Given the description of an element on the screen output the (x, y) to click on. 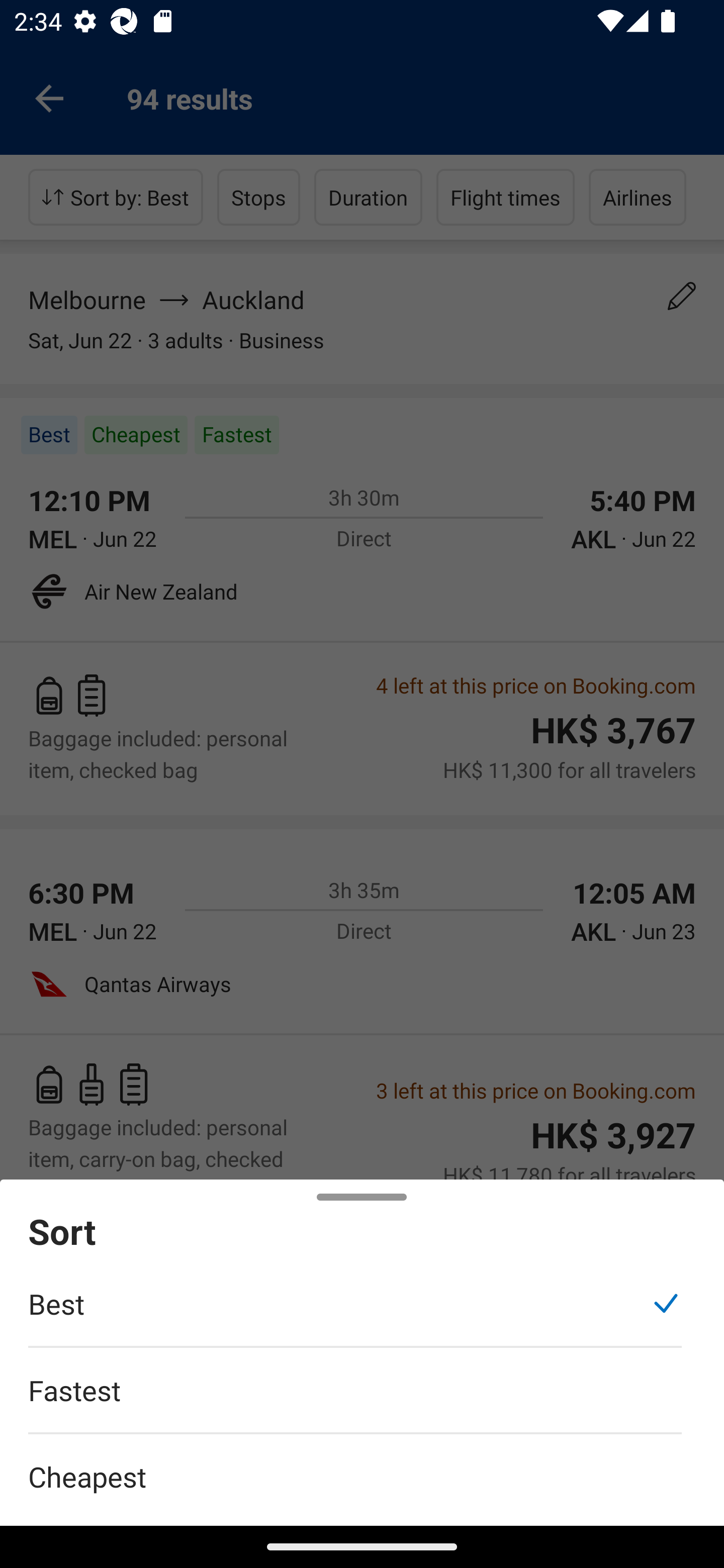
Best (355, 1313)
Fastest (355, 1399)
Cheapest (362, 1465)
